Given the description of an element on the screen output the (x, y) to click on. 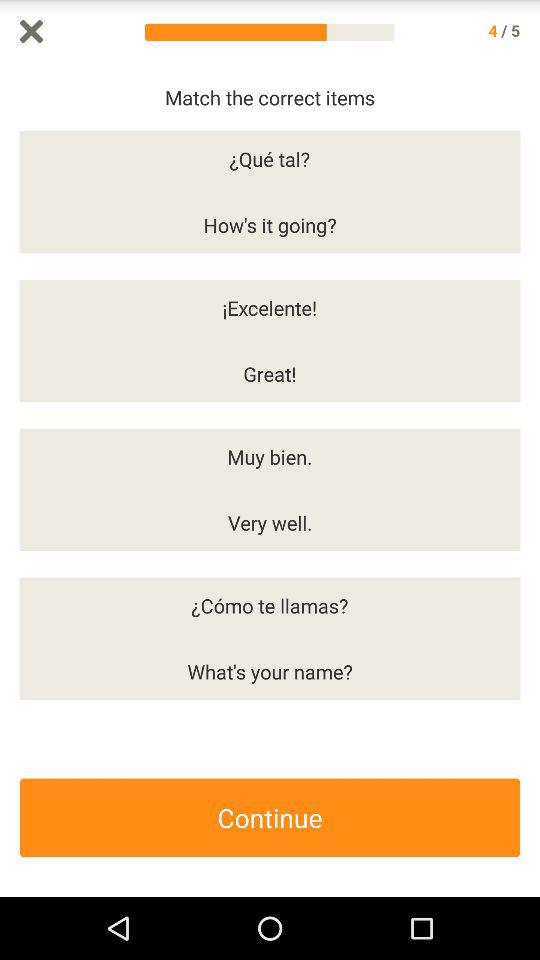
come back (530, 480)
